Given the description of an element on the screen output the (x, y) to click on. 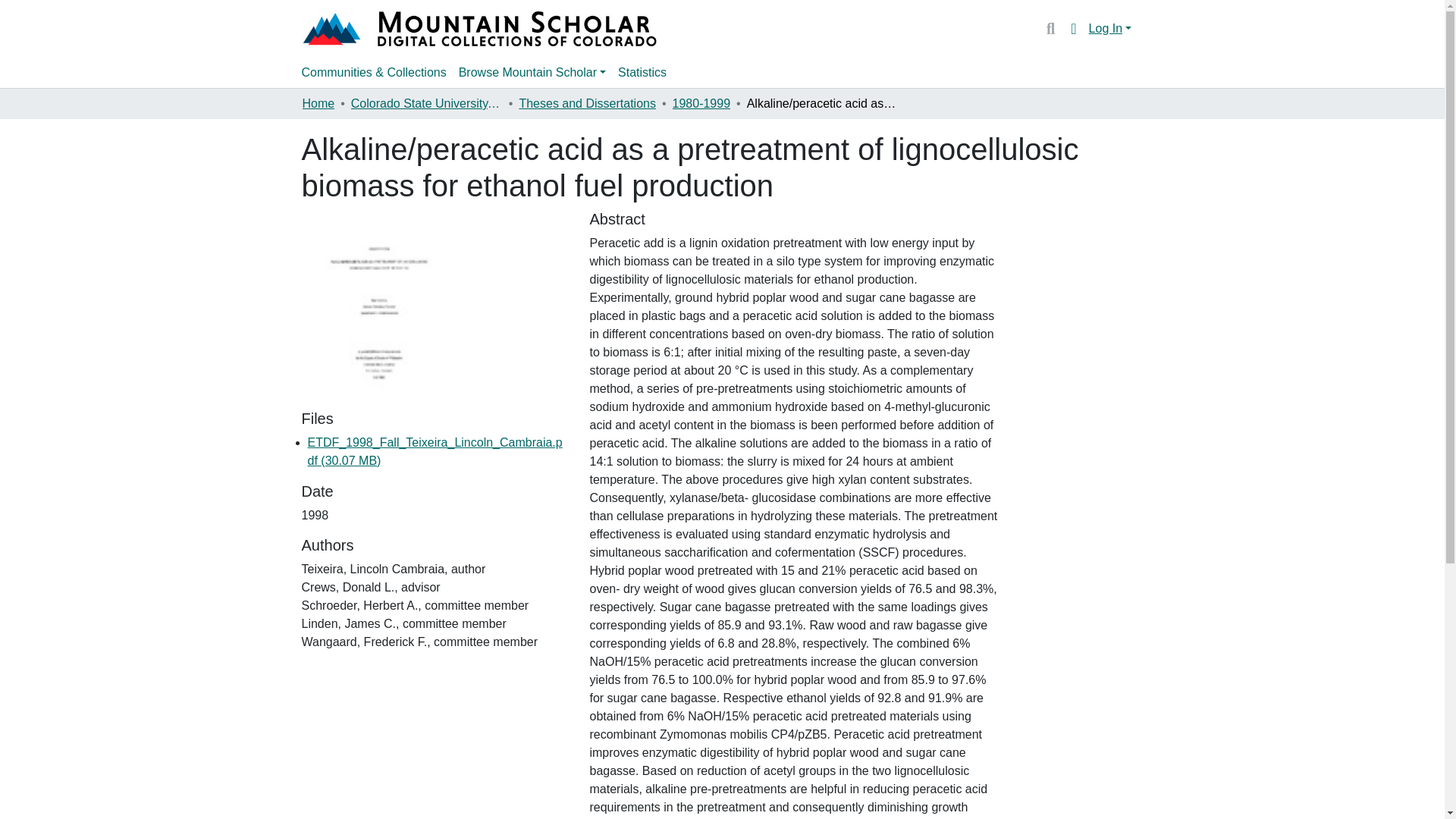
Statistics (641, 72)
Language switch (1073, 28)
Colorado State University, Fort Collins (426, 104)
Home (317, 104)
Log In (1110, 28)
Statistics (641, 72)
1980-1999 (701, 104)
Search (1050, 28)
Theses and Dissertations (587, 104)
Browse Mountain Scholar (531, 72)
